Given the description of an element on the screen output the (x, y) to click on. 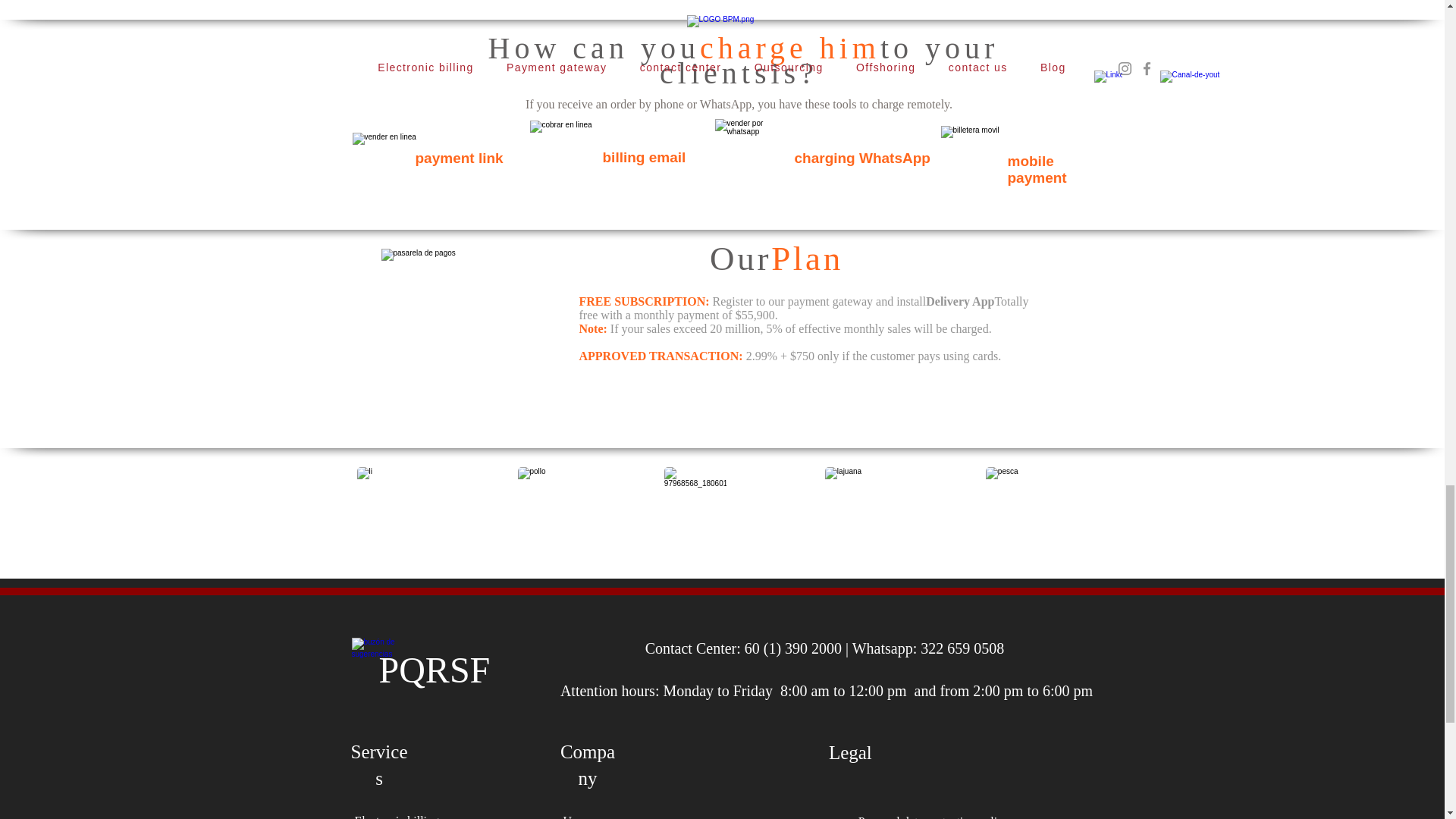
PQRSF (434, 670)
Us (599, 812)
Personal data protection policy (932, 812)
Electronic billing (412, 816)
